Given the description of an element on the screen output the (x, y) to click on. 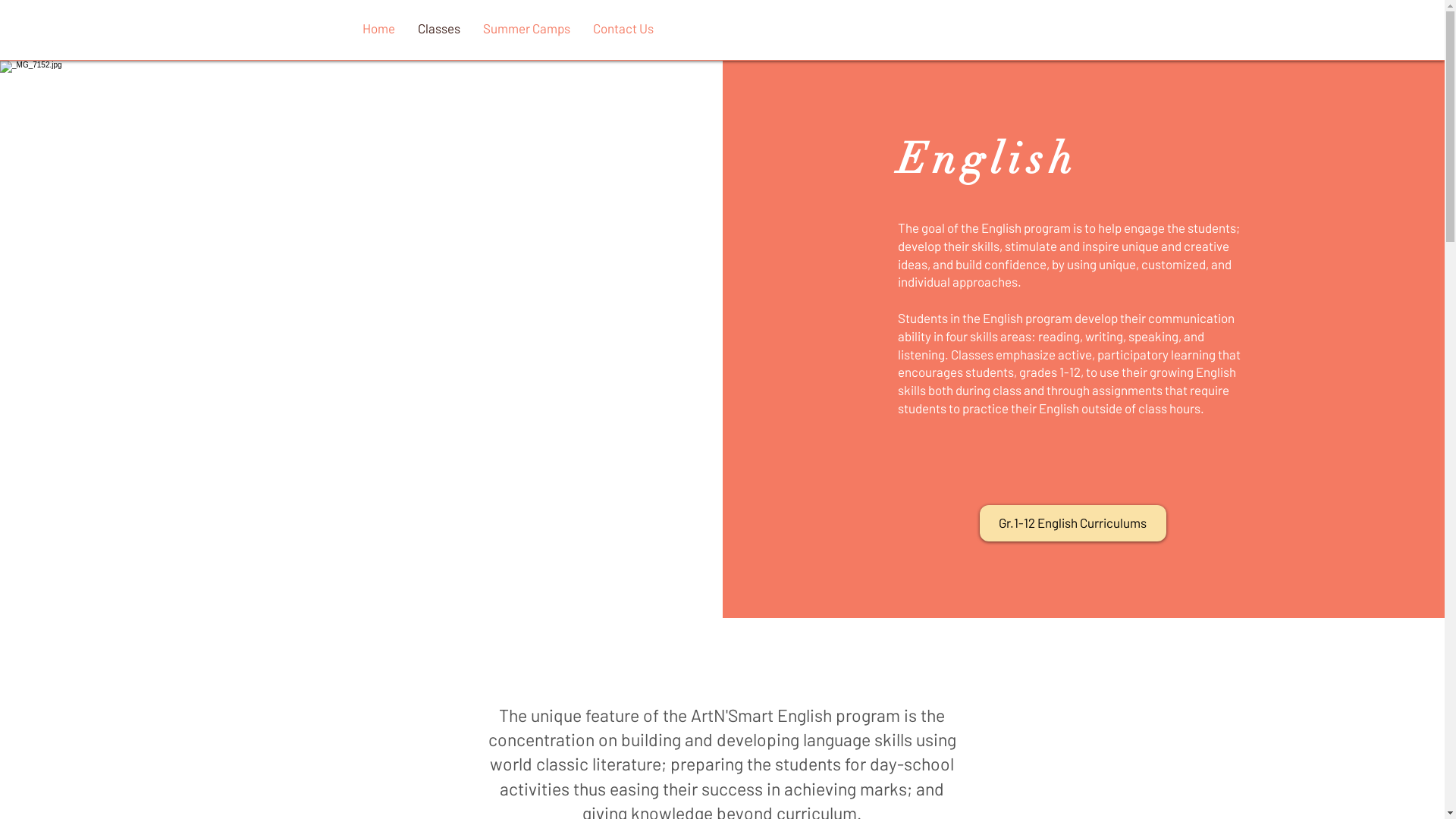
Gr.1-12 English Curriculums Element type: text (1072, 523)
Summer Camps Element type: text (526, 27)
Home Element type: text (377, 27)
Contact Us Element type: text (622, 27)
Classes Element type: text (438, 27)
